Given the description of an element on the screen output the (x, y) to click on. 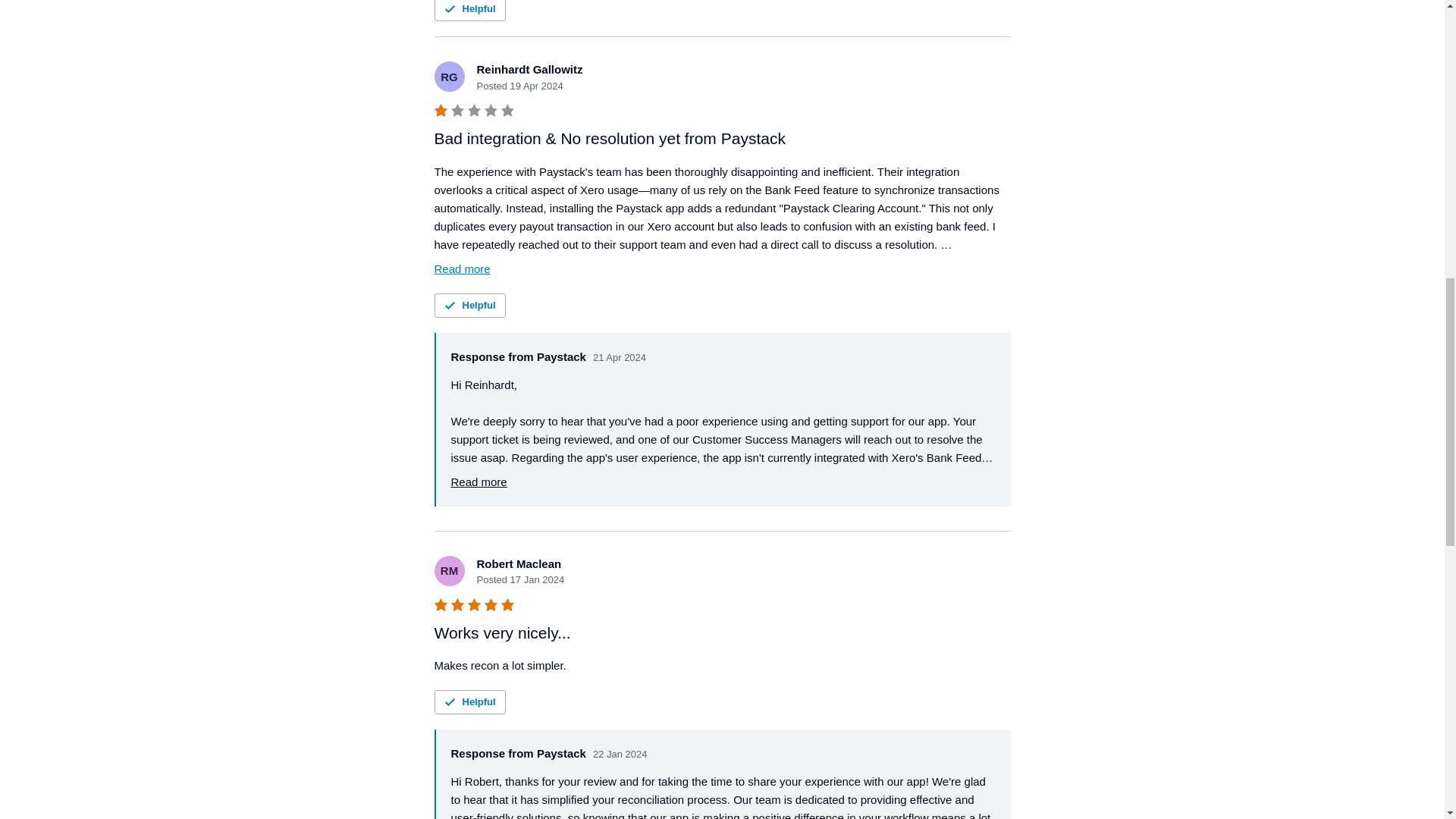
Helpful (469, 10)
Read more (461, 269)
Read more (477, 482)
Helpful (469, 702)
Helpful (469, 305)
